Given the description of an element on the screen output the (x, y) to click on. 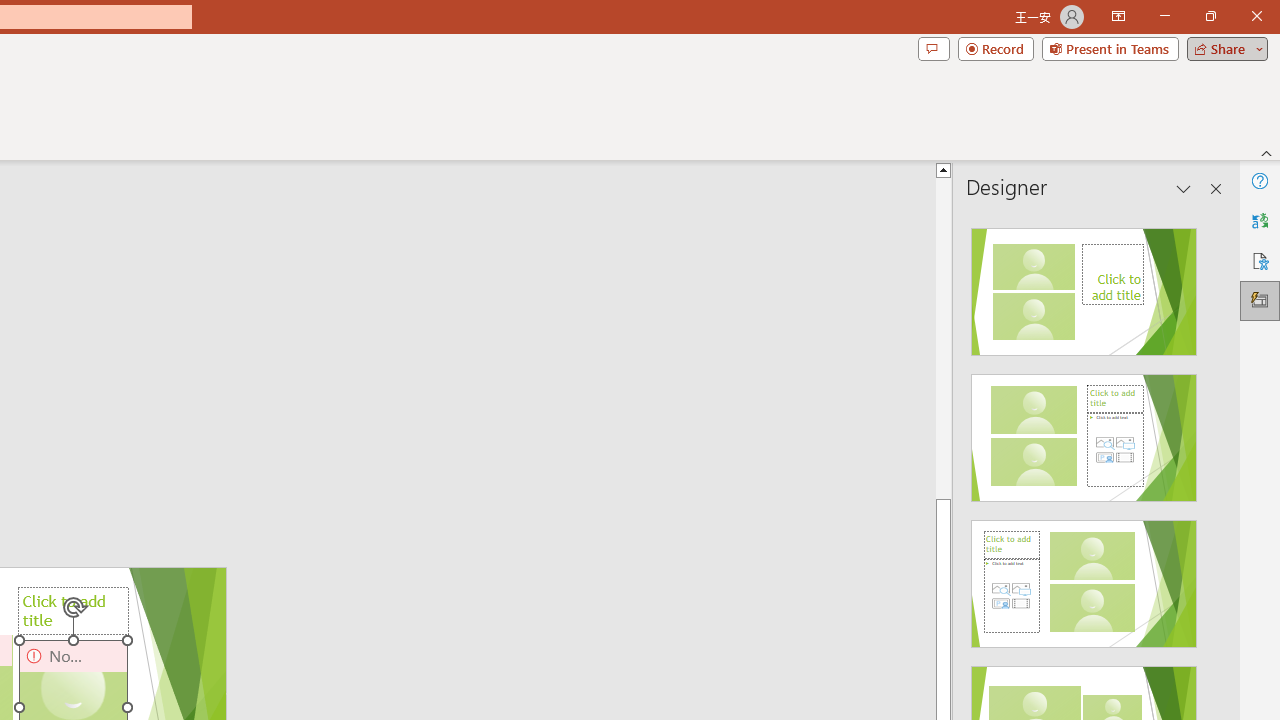
Recommended Design: Design Idea (1083, 286)
